Given the description of an element on the screen output the (x, y) to click on. 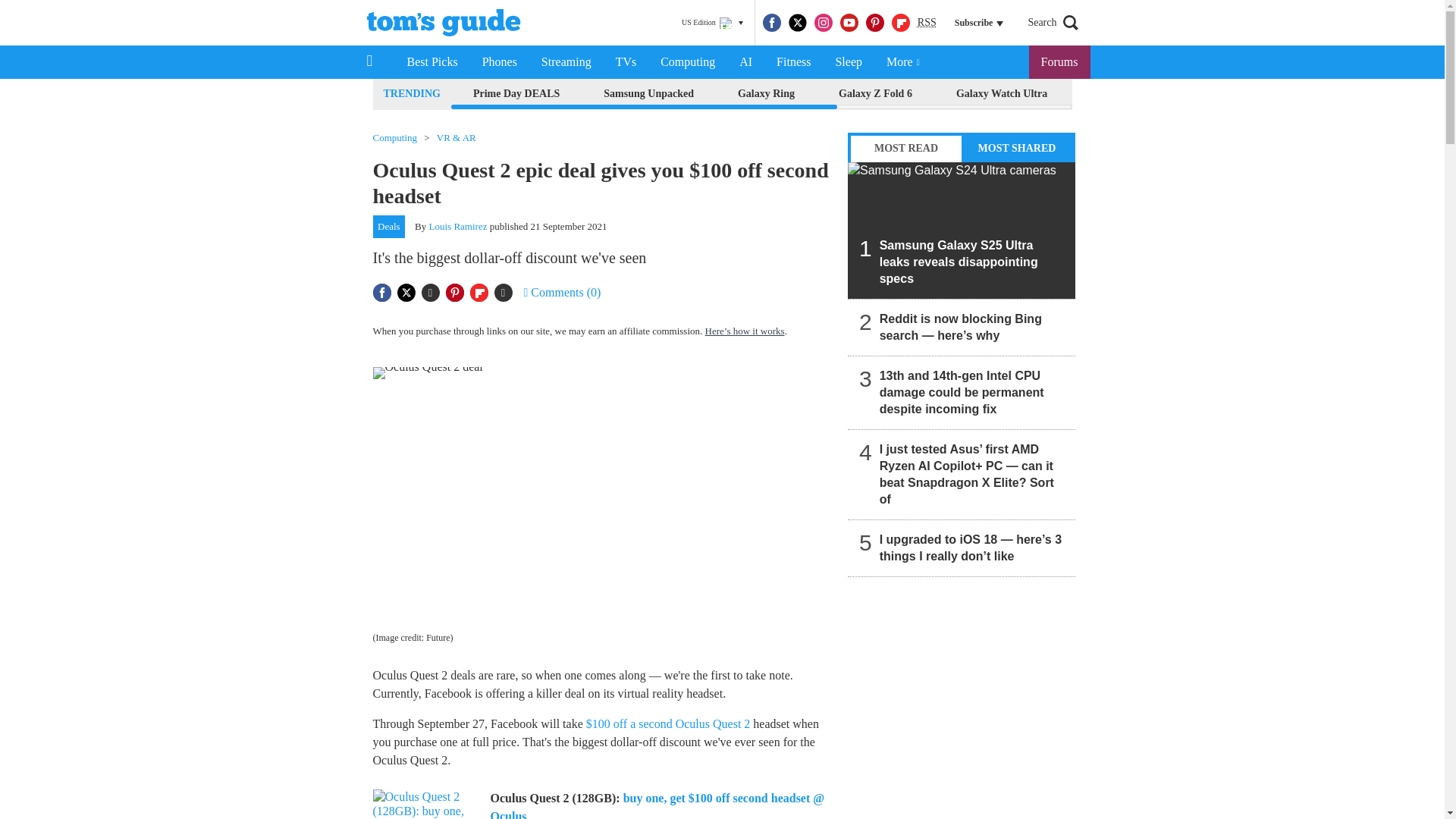
Samsung Galaxy S25 Ultra leaks reveals disappointing specs (961, 230)
RSS (926, 22)
Computing (686, 61)
TVs (626, 61)
Best Picks (431, 61)
Fitness (793, 61)
Sleep (848, 61)
US Edition (712, 22)
Really Simple Syndication (926, 21)
Phones (499, 61)
Streaming (566, 61)
AI (745, 61)
